Given the description of an element on the screen output the (x, y) to click on. 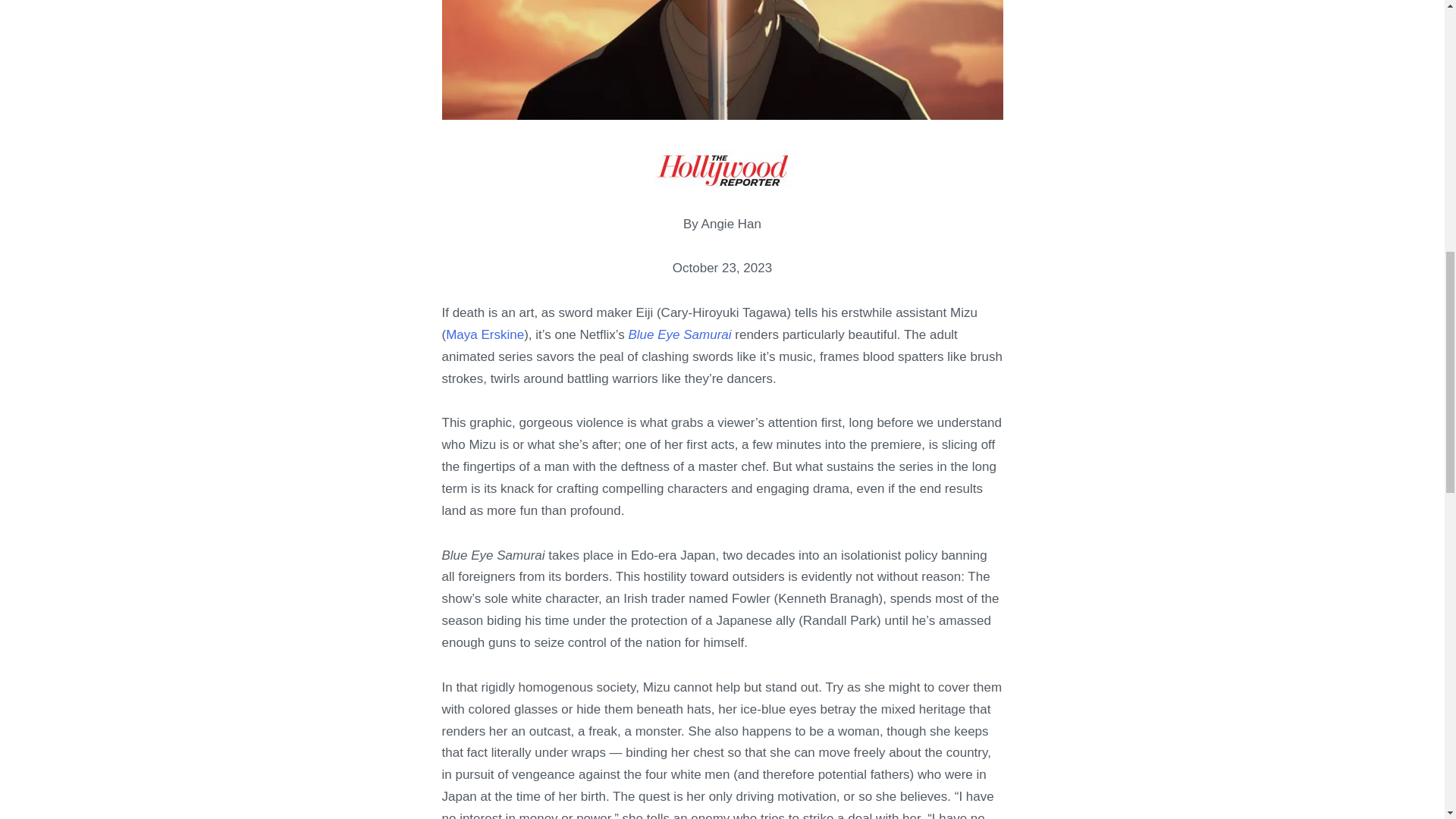
Maya Erskine (484, 334)
Blue Eye Samurai (678, 334)
